Given the description of an element on the screen output the (x, y) to click on. 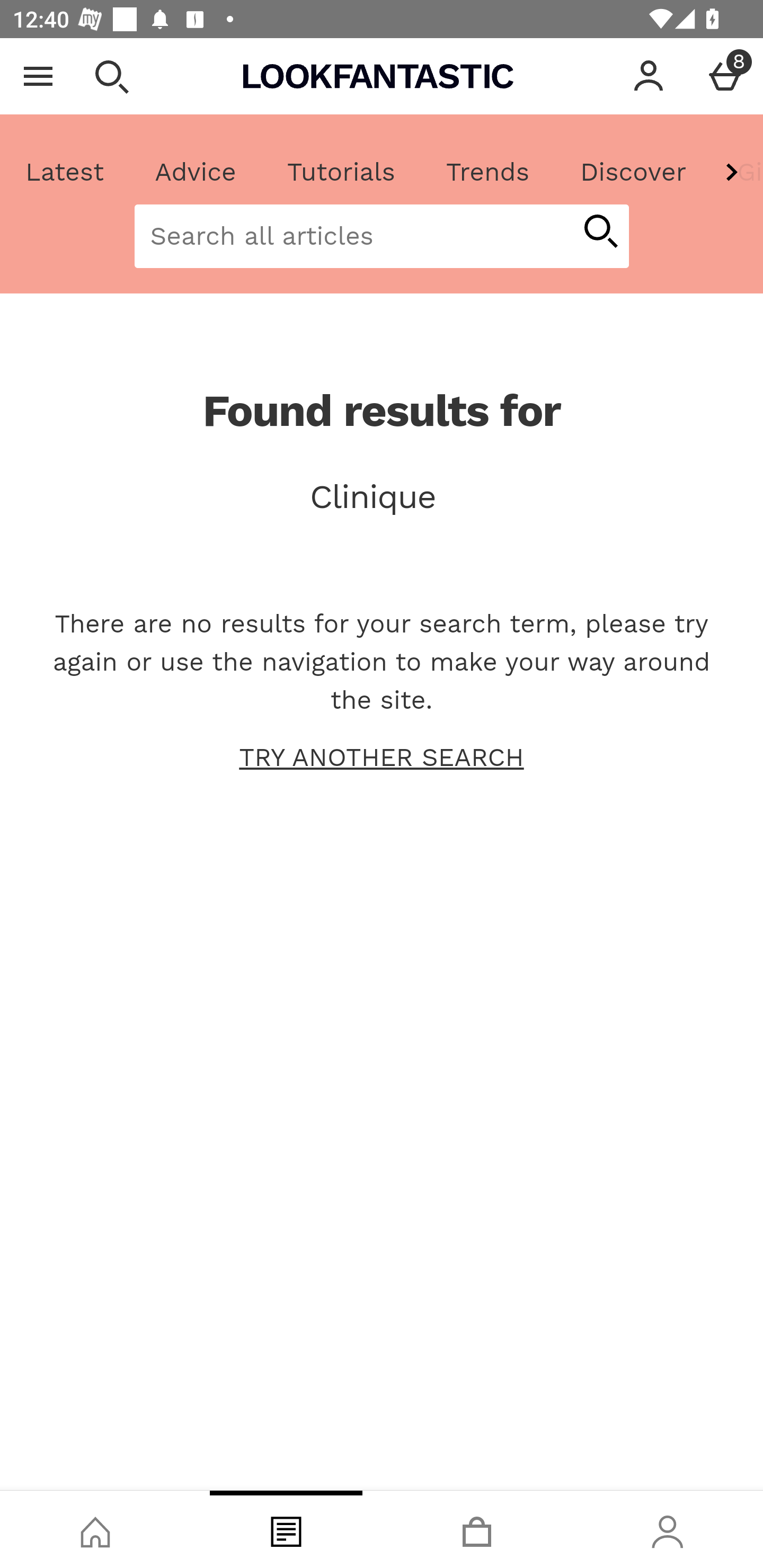
Open Menu (38, 75)
Open search (111, 75)
Account (648, 75)
Basket Menu (724, 75)
Latest (65, 172)
Advice (195, 172)
Tutorials (340, 172)
Trends (486, 172)
Discover (632, 172)
Gift Guide (736, 172)
start article search (599, 232)
Clinique (381, 496)
TRY ANOTHER SEARCH (381, 757)
Shop, tab, 1 of 4 (95, 1529)
Blog, tab, 2 of 4 (285, 1529)
Basket, tab, 3 of 4 (476, 1529)
Account, tab, 4 of 4 (667, 1529)
